Given the description of an element on the screen output the (x, y) to click on. 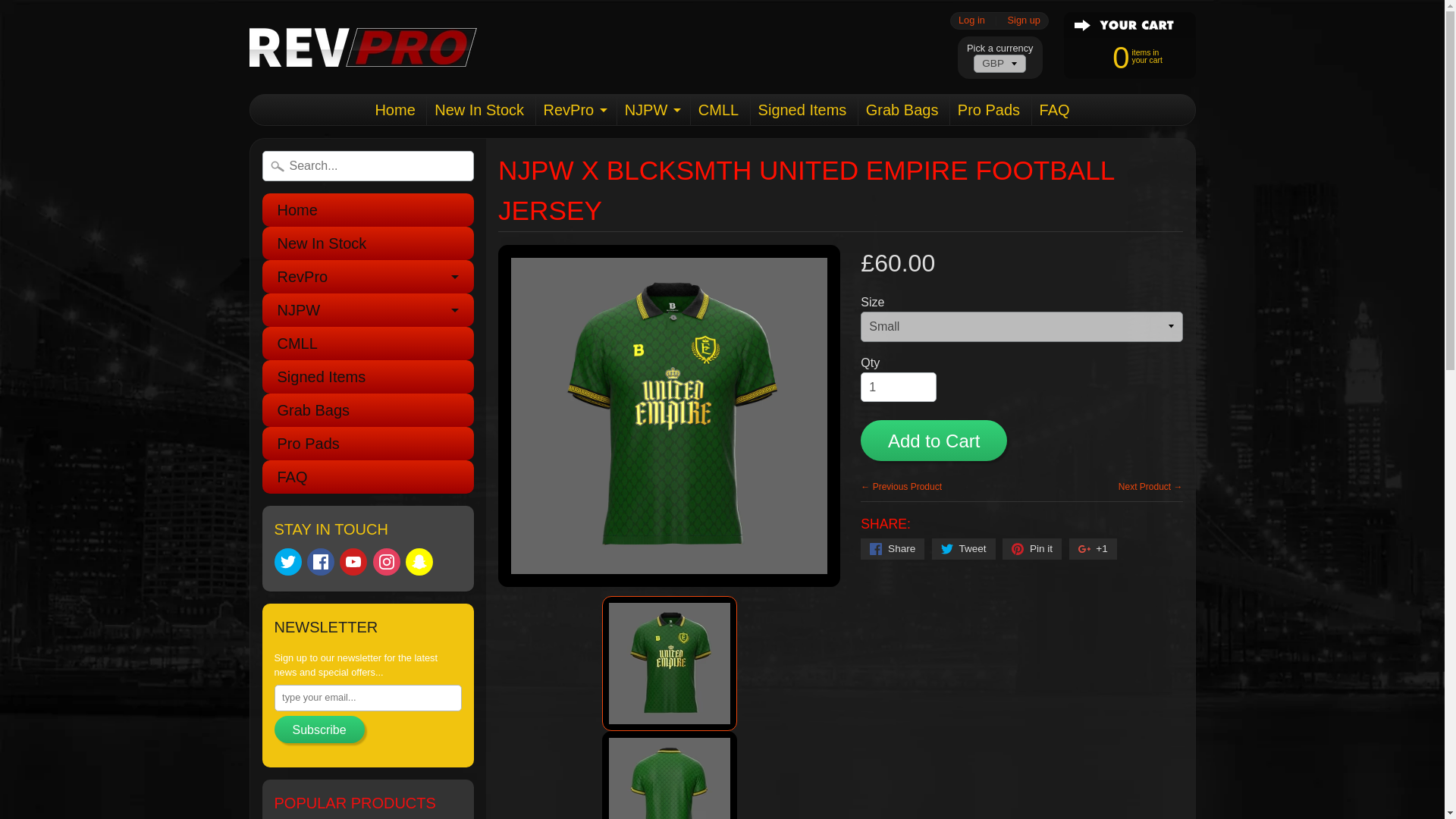
Log in (970, 20)
Instagram (386, 561)
Home (368, 209)
1 (898, 387)
RevPro (368, 276)
New In Stock (478, 110)
Twitter (288, 561)
CMLL (717, 110)
Sign up (1024, 20)
RevPro (573, 110)
Shop RevPro  (362, 46)
NJPW (652, 110)
FAQ (1054, 110)
Youtube (1122, 56)
